Given the description of an element on the screen output the (x, y) to click on. 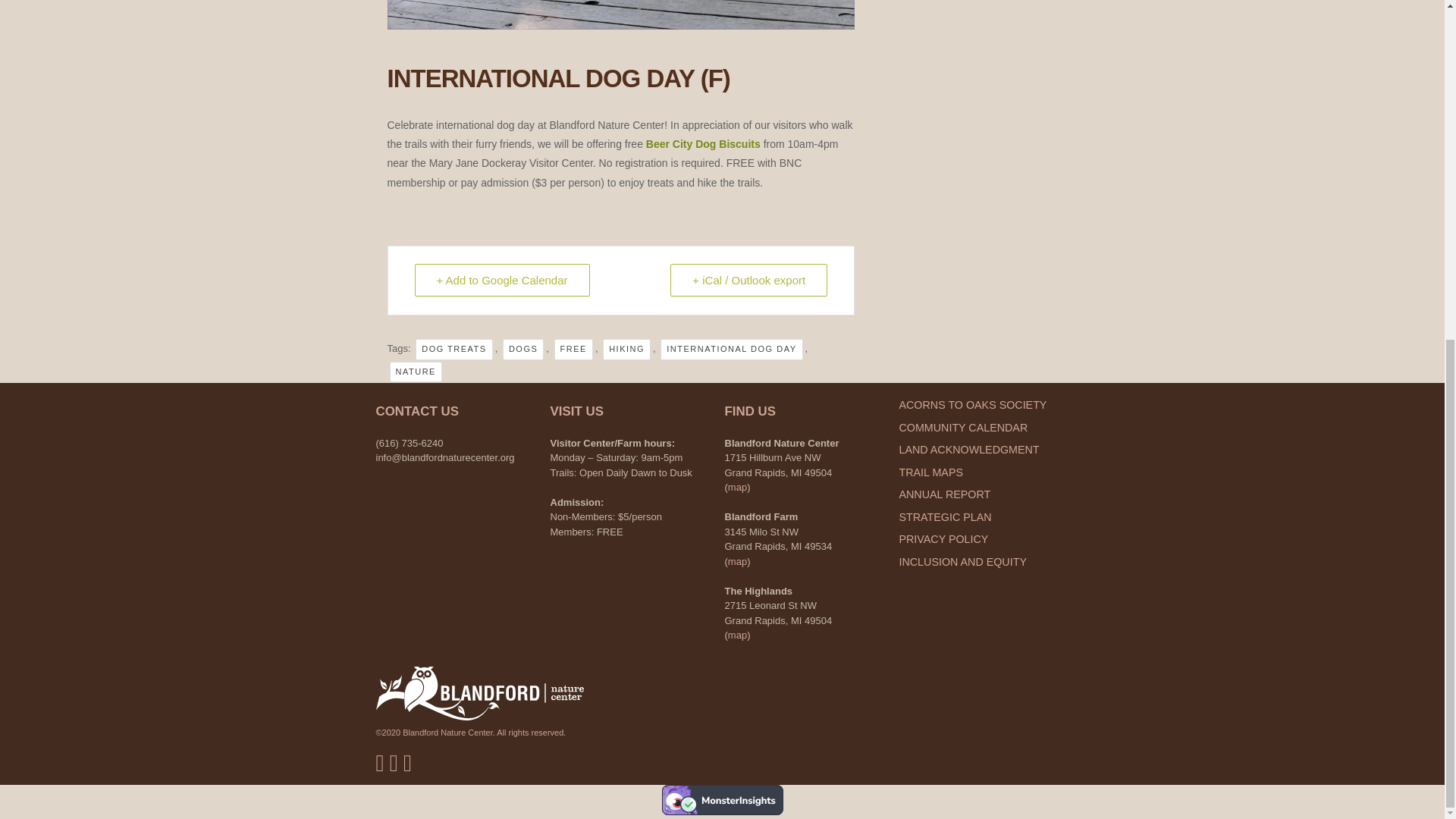
Verified by MonsterInsights (722, 799)
Blandford Nature Center (479, 716)
